Given the description of an element on the screen output the (x, y) to click on. 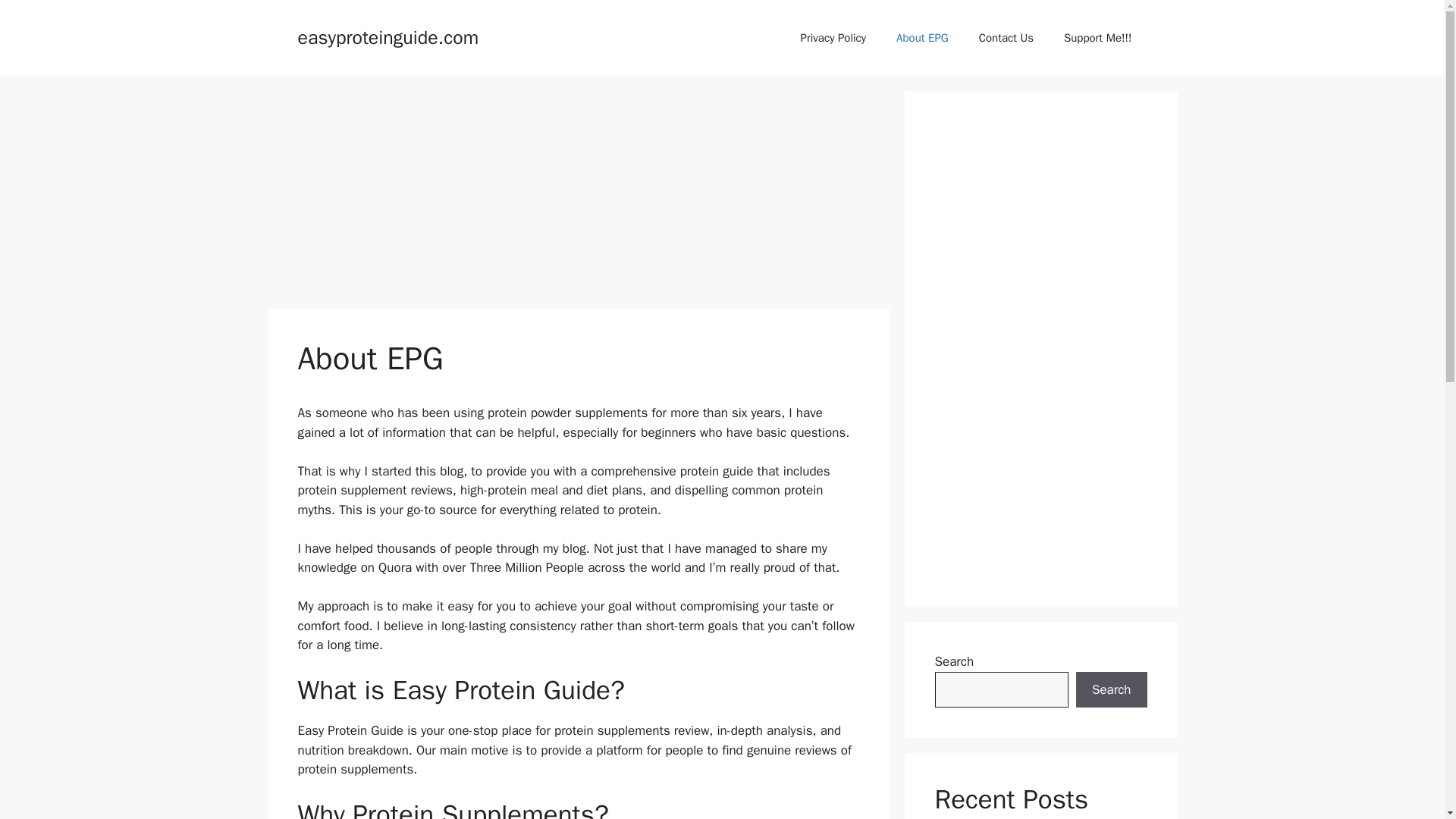
easyproteinguide.com (388, 37)
About EPG (921, 37)
Privacy Policy (834, 37)
Search (1111, 689)
Advertisement (577, 196)
Contact Us (1005, 37)
Support Me!!! (1097, 37)
